Given the description of an element on the screen output the (x, y) to click on. 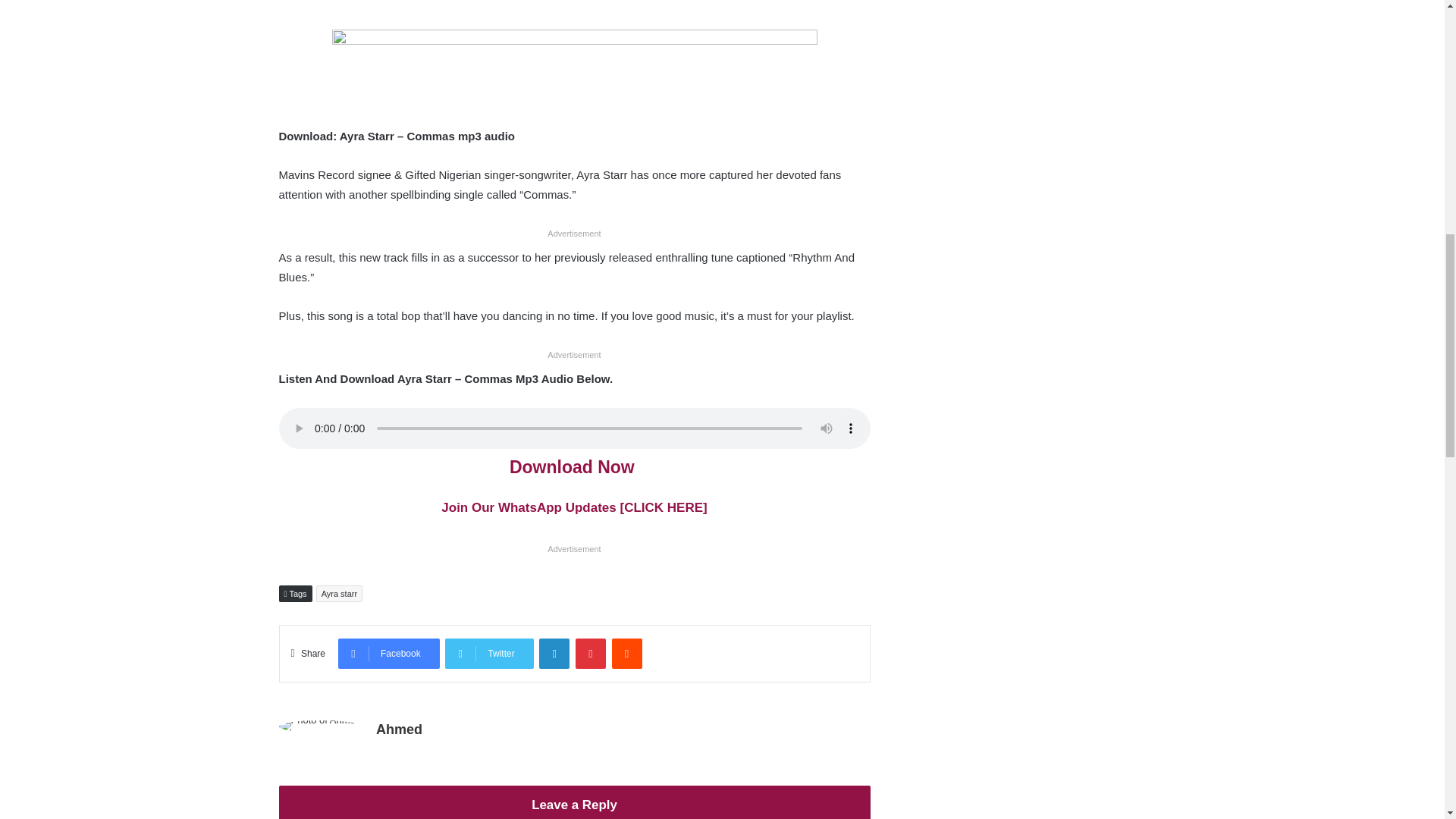
Download Now  (574, 466)
Ayra starr (338, 593)
